Given the description of an element on the screen output the (x, y) to click on. 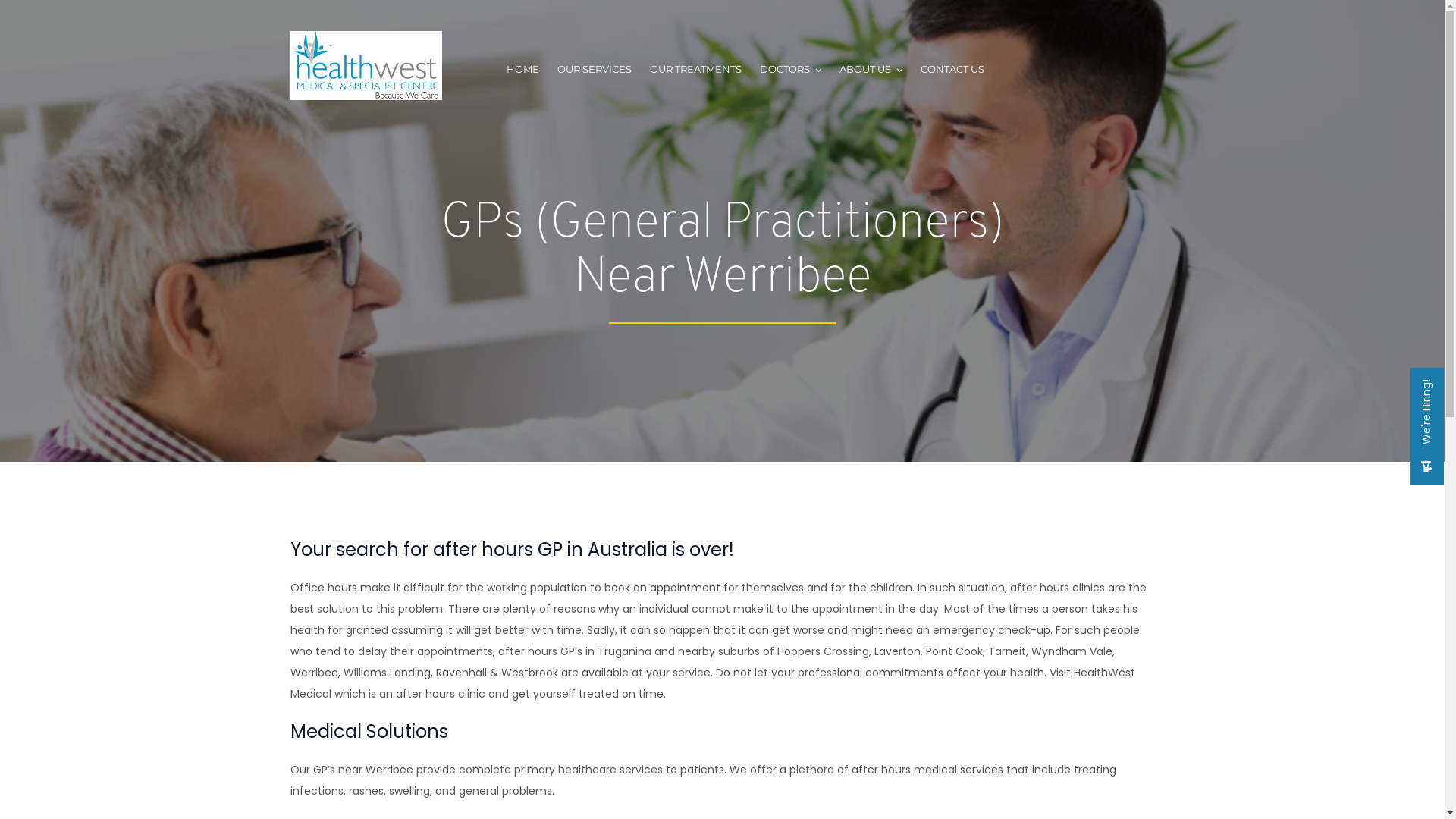
OUR TREATMENTS Element type: text (694, 71)
CONTACT US Element type: text (952, 71)
OUR SERVICES Element type: text (593, 71)
DOCTORS Element type: text (790, 71)
ABOUT US Element type: text (869, 71)
HOME Element type: text (522, 71)
